Given the description of an element on the screen output the (x, y) to click on. 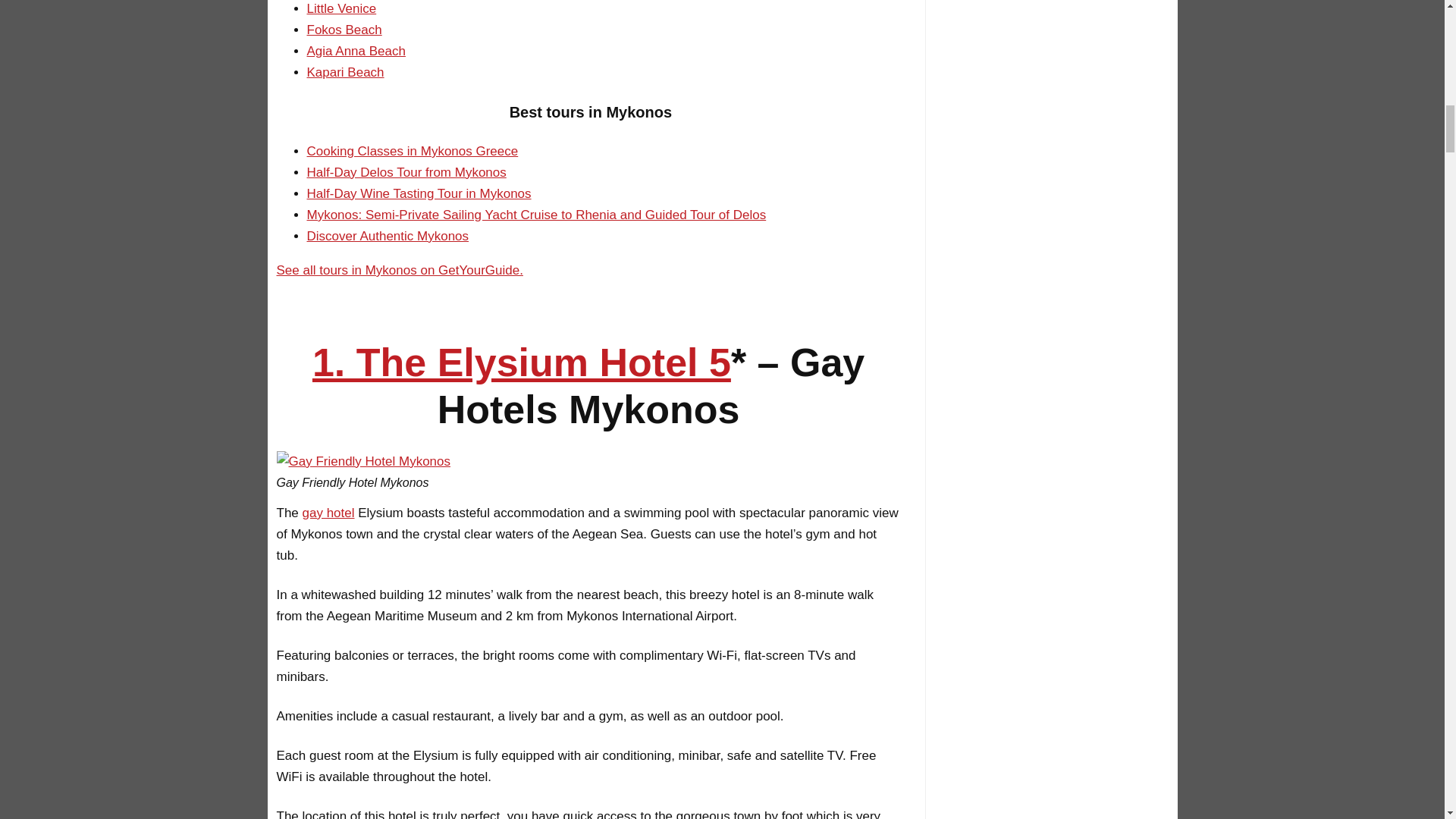
Little Venice (340, 8)
